Given the description of an element on the screen output the (x, y) to click on. 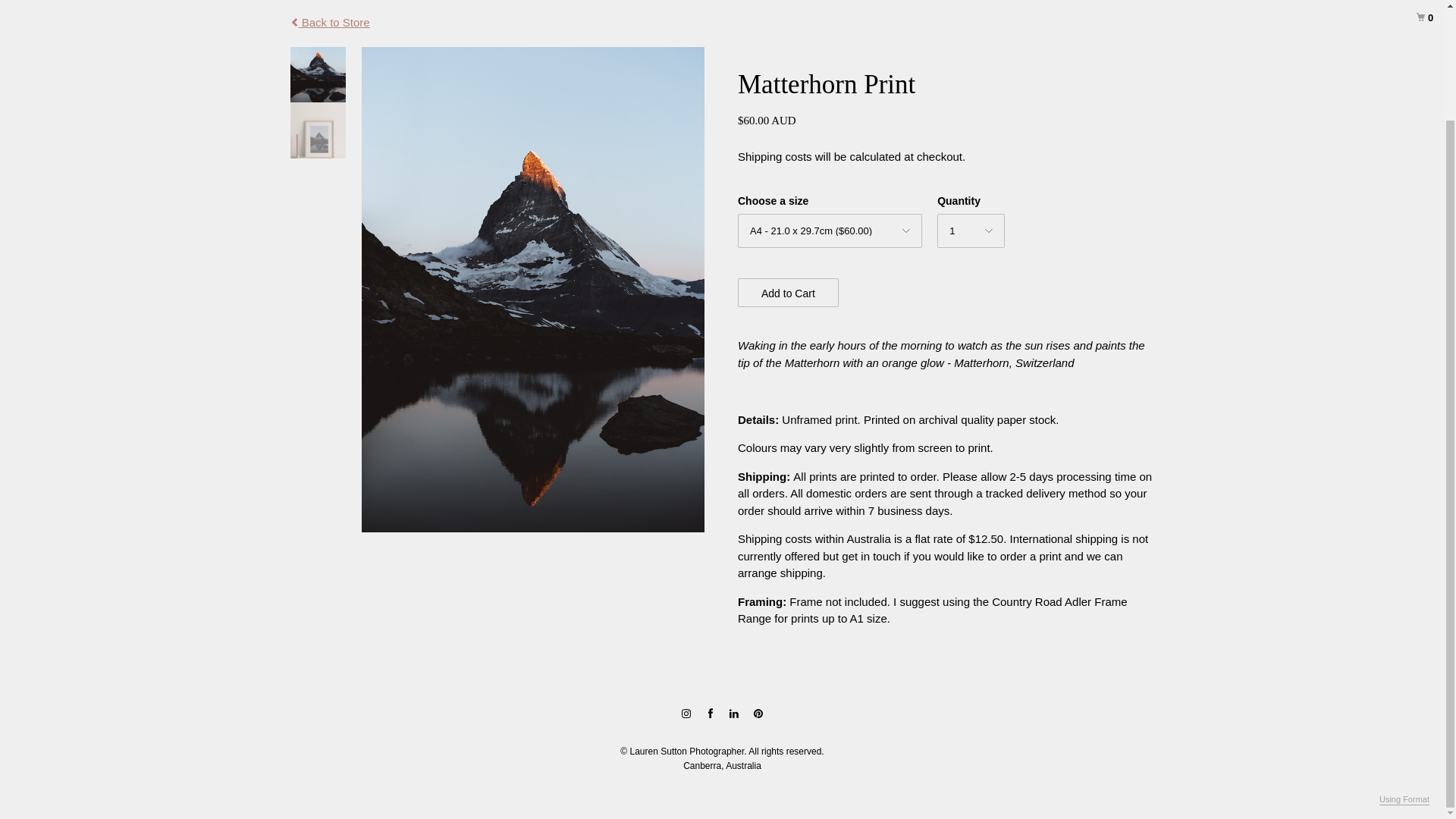
Back to Store (329, 22)
Using Format (1403, 670)
Add to Cart (788, 292)
1 (970, 230)
